Given the description of an element on the screen output the (x, y) to click on. 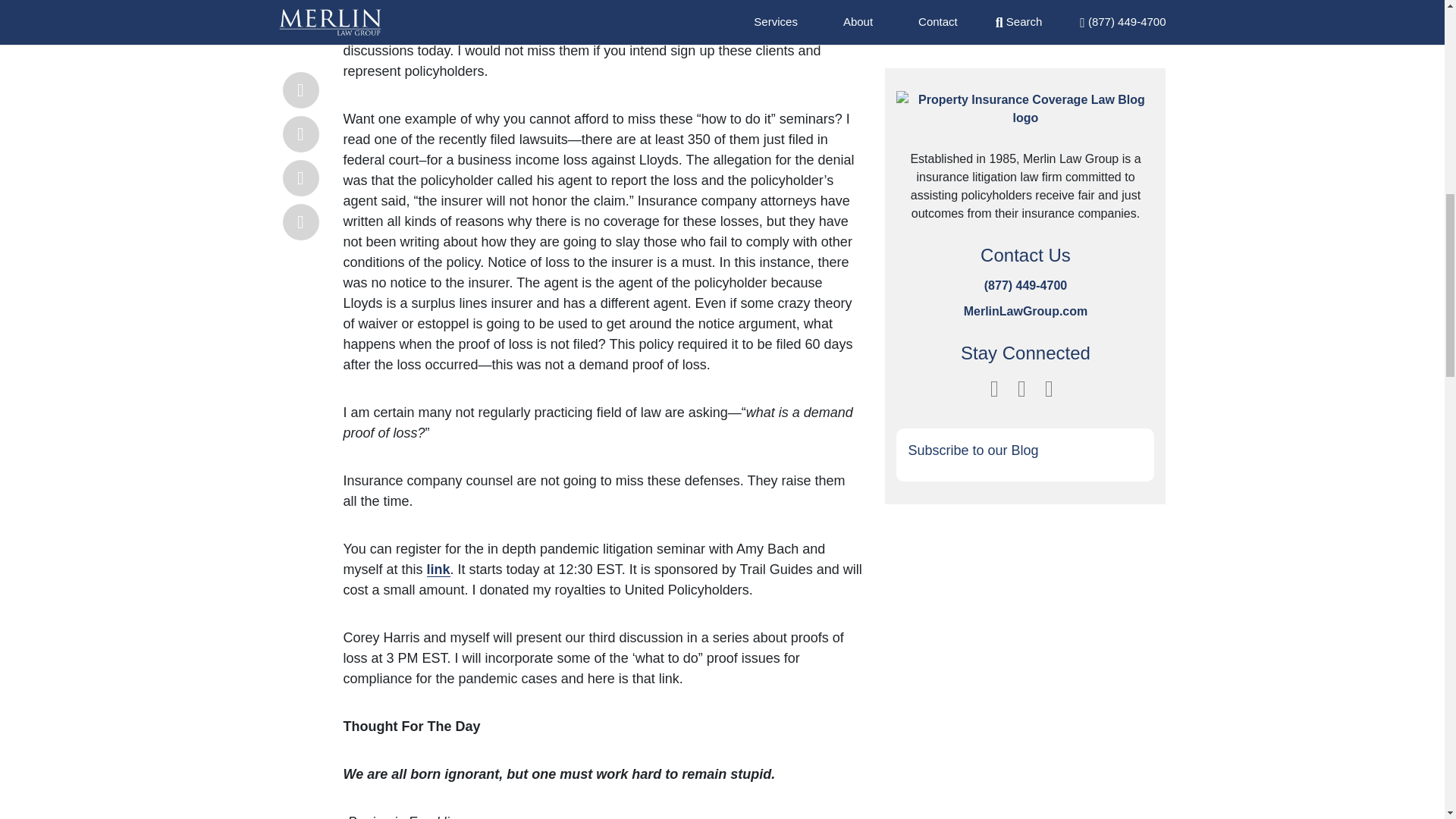
link (437, 569)
